Given the description of an element on the screen output the (x, y) to click on. 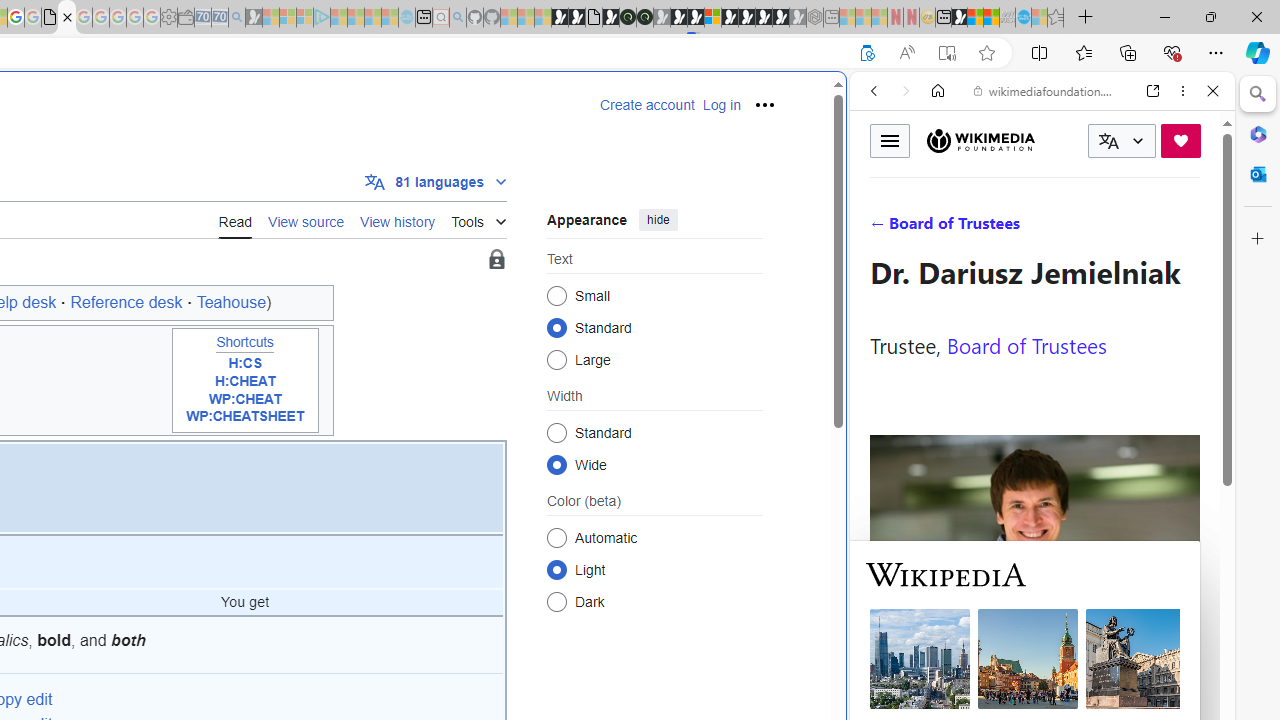
H:CS (244, 363)
Log in (721, 105)
Earth has six continents not seven, radical new study claims (991, 17)
